Given the description of an element on the screen output the (x, y) to click on. 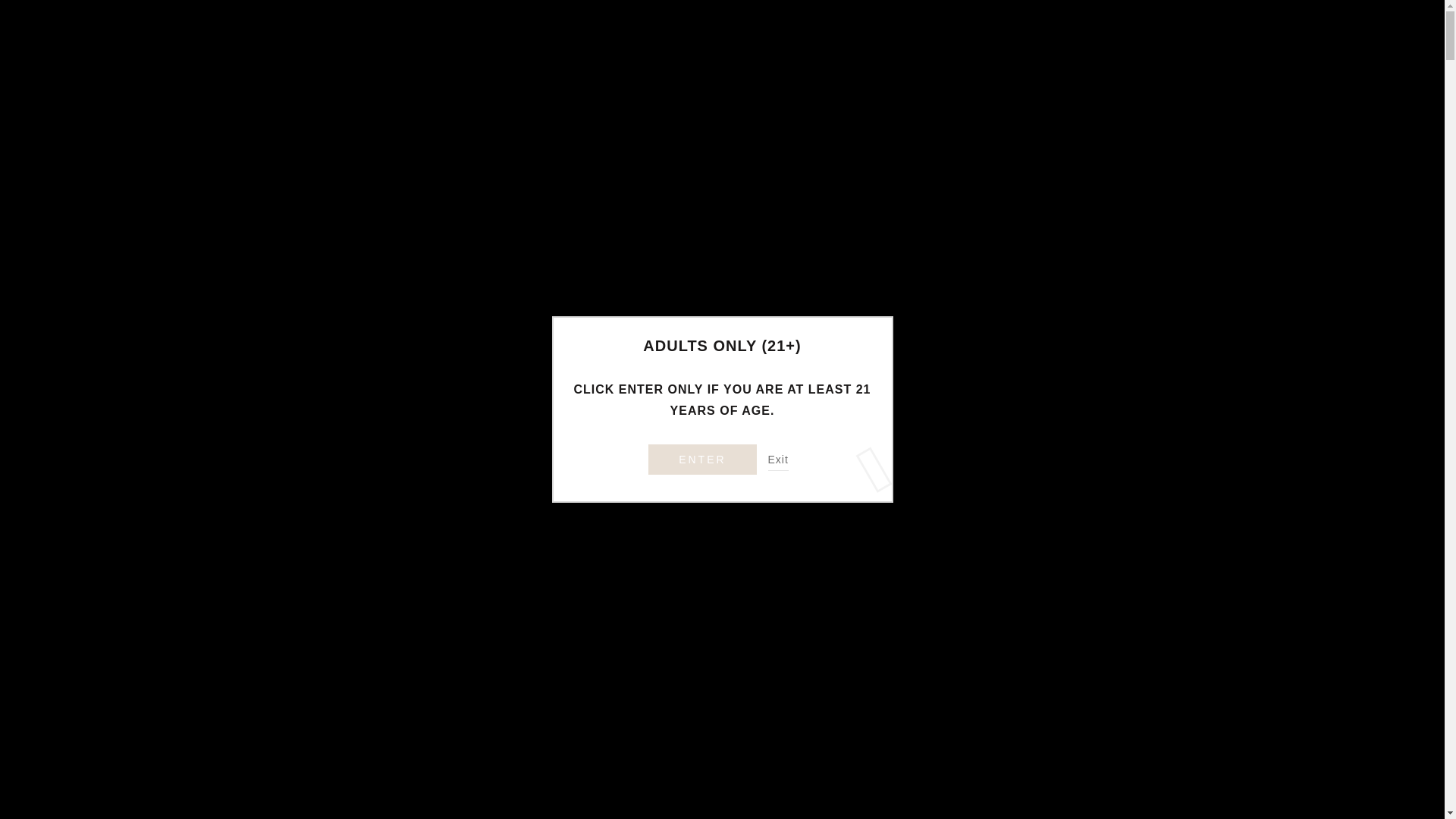
1 (756, 463)
DISPOSABLES (870, 129)
Qty (756, 463)
EJUICE (639, 129)
BRANDS (975, 129)
ACCESSORIES (743, 129)
HOME (461, 129)
HARDWARE (548, 129)
